Given the description of an element on the screen output the (x, y) to click on. 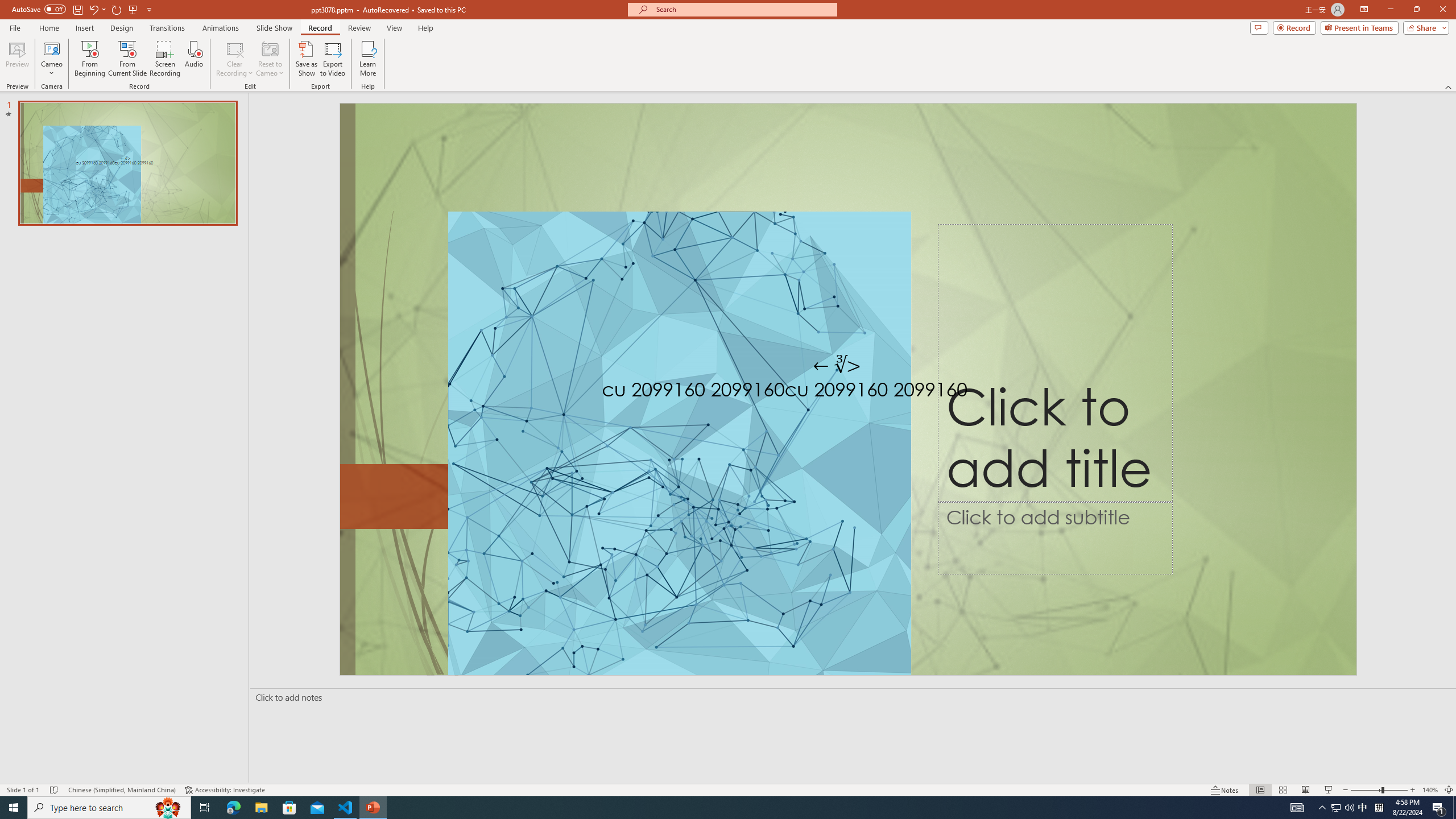
Zoom 140% (1430, 790)
